Given the description of an element on the screen output the (x, y) to click on. 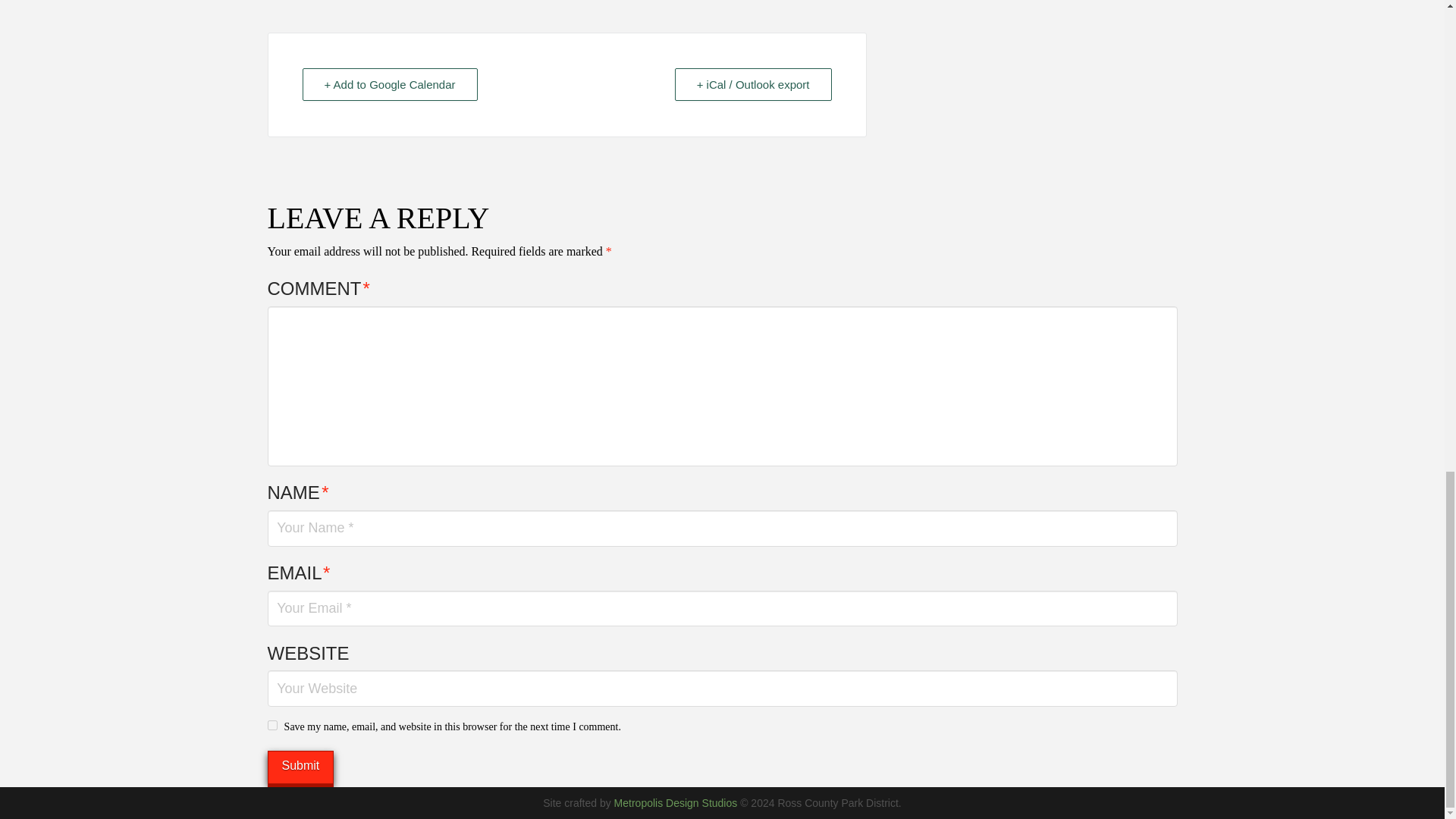
Submit (299, 767)
yes (271, 725)
